Given the description of an element on the screen output the (x, y) to click on. 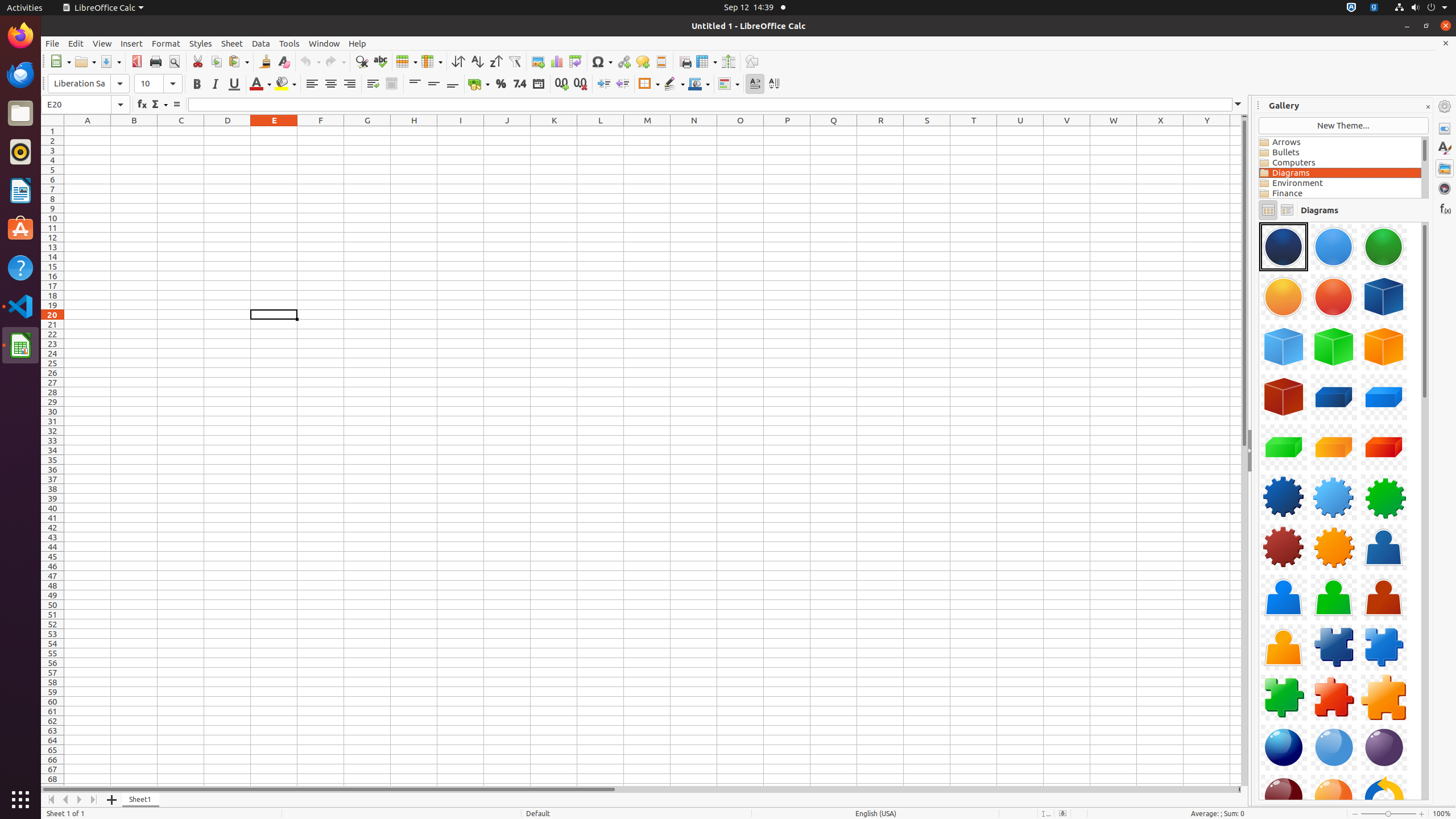
Thunderbird Mail Element type: push-button (20, 74)
AutoFilter Element type: push-button (514, 61)
Merge and Center Cells Element type: push-button (391, 83)
Add Decimal Place Element type: push-button (561, 83)
